Given the description of an element on the screen output the (x, y) to click on. 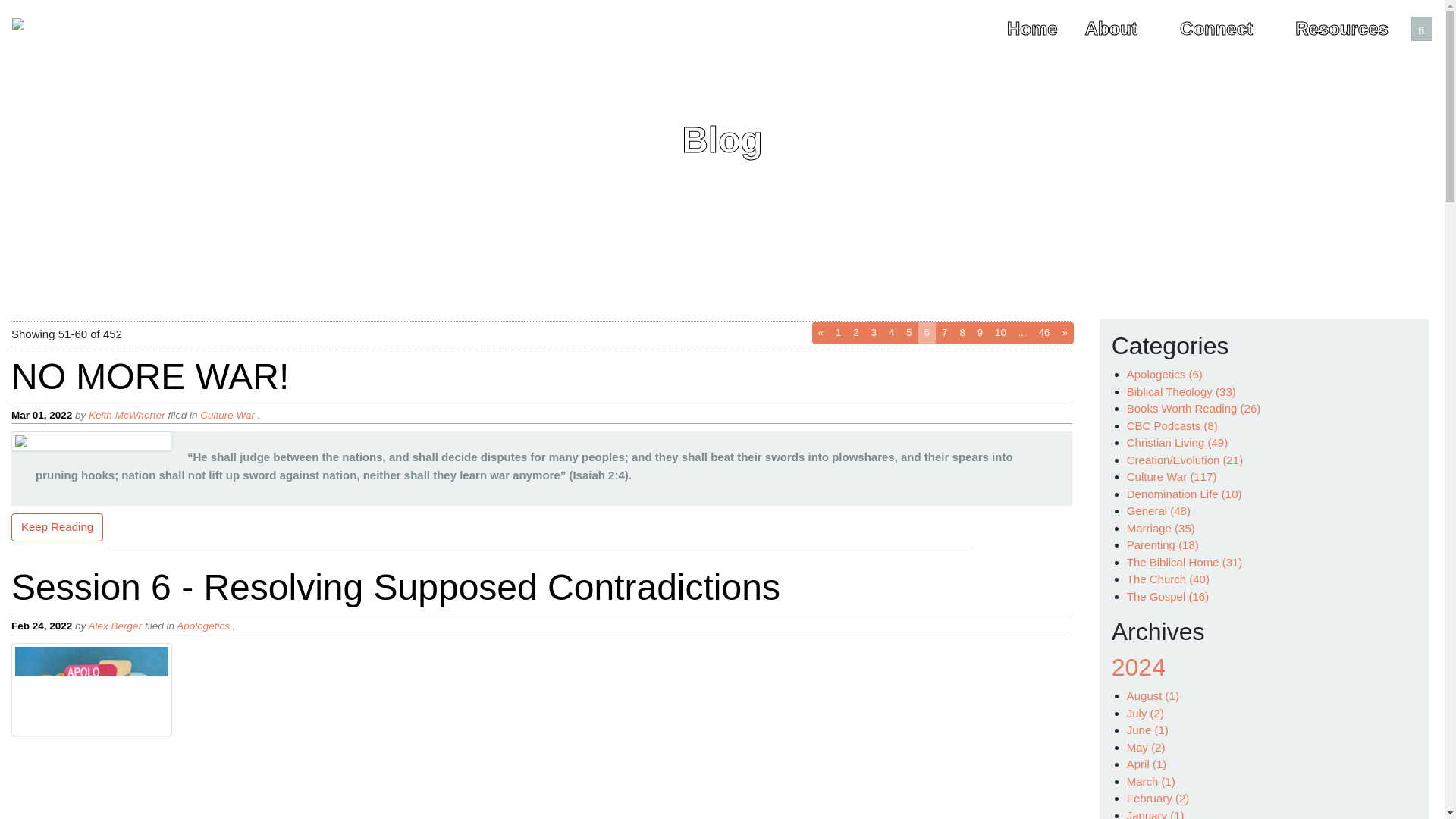
Submit (1420, 30)
Resources (1348, 28)
About (1118, 28)
Resources from Corydon Baptist Church (1348, 28)
Connect with CBC (1223, 28)
Home (1032, 28)
... (1021, 332)
Corydon Baptist Church Logo (1044, 332)
Connect (30, 28)
